Given the description of an element on the screen output the (x, y) to click on. 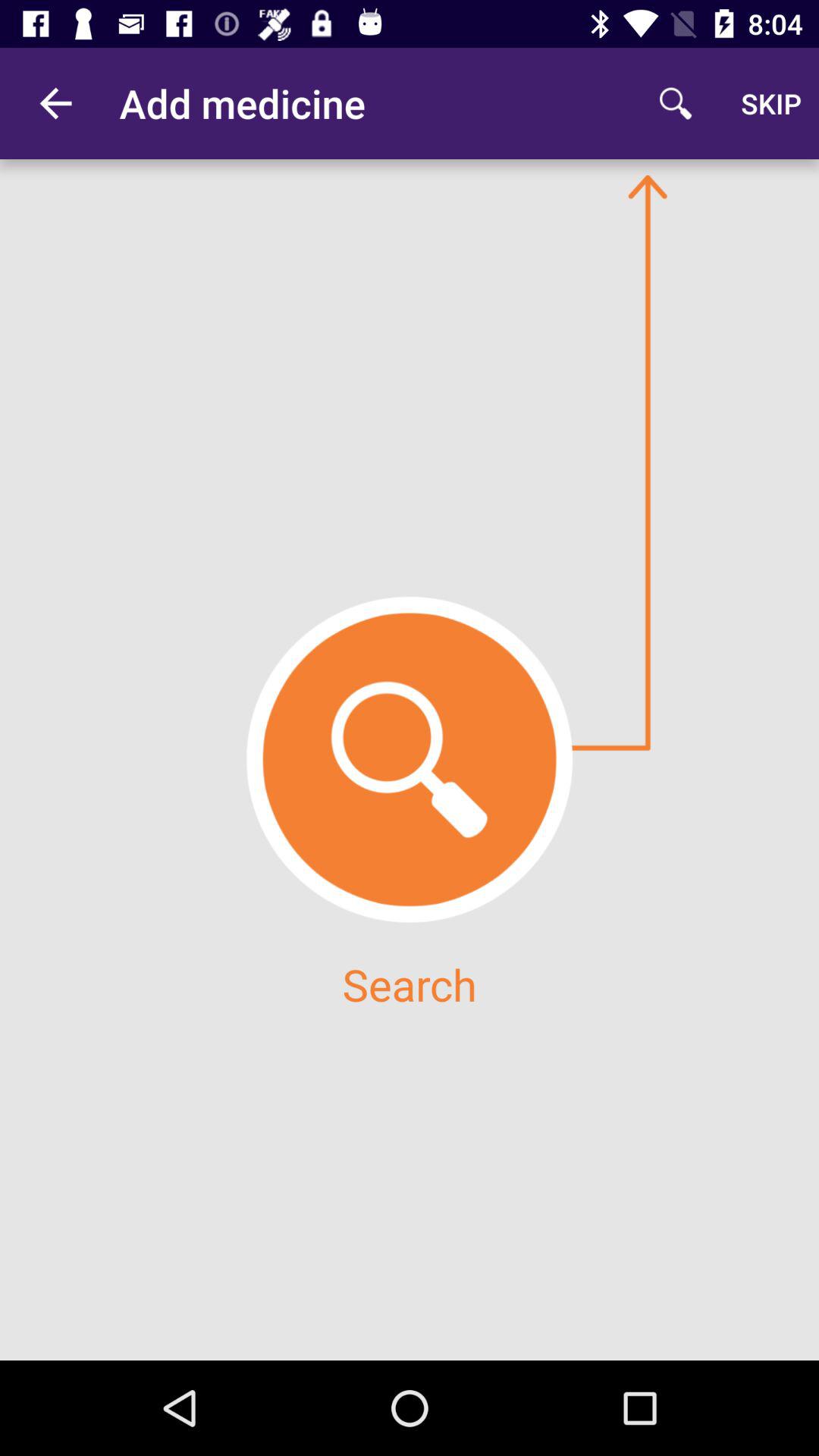
tap item next to the skip icon (675, 103)
